Given the description of an element on the screen output the (x, y) to click on. 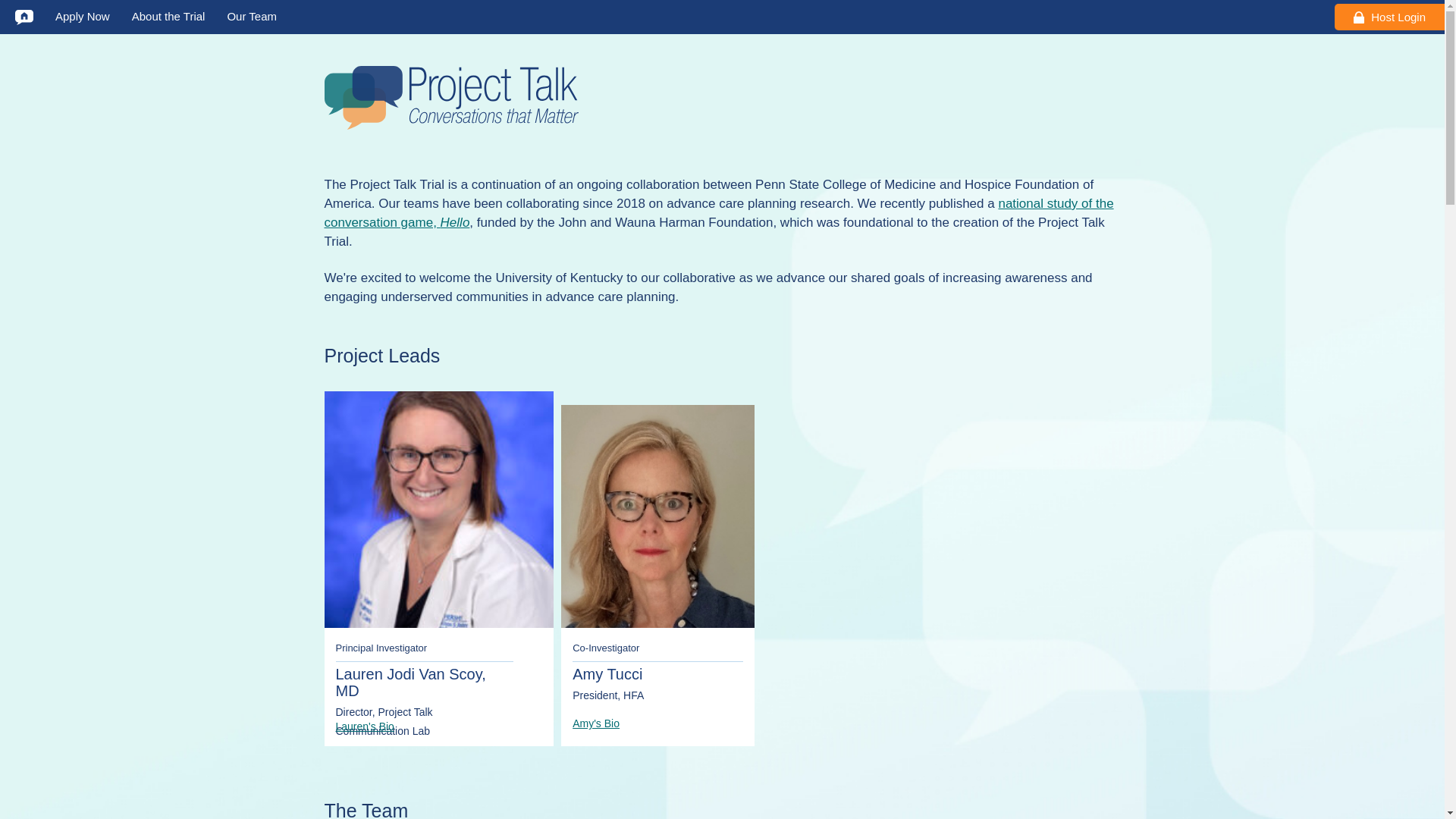
About the Trial (168, 16)
national study of the conversation game, Hello (718, 213)
Our Team (251, 16)
Lauren's Bio (363, 726)
Amy's Bio (596, 723)
Apply Now (82, 16)
